Given the description of an element on the screen output the (x, y) to click on. 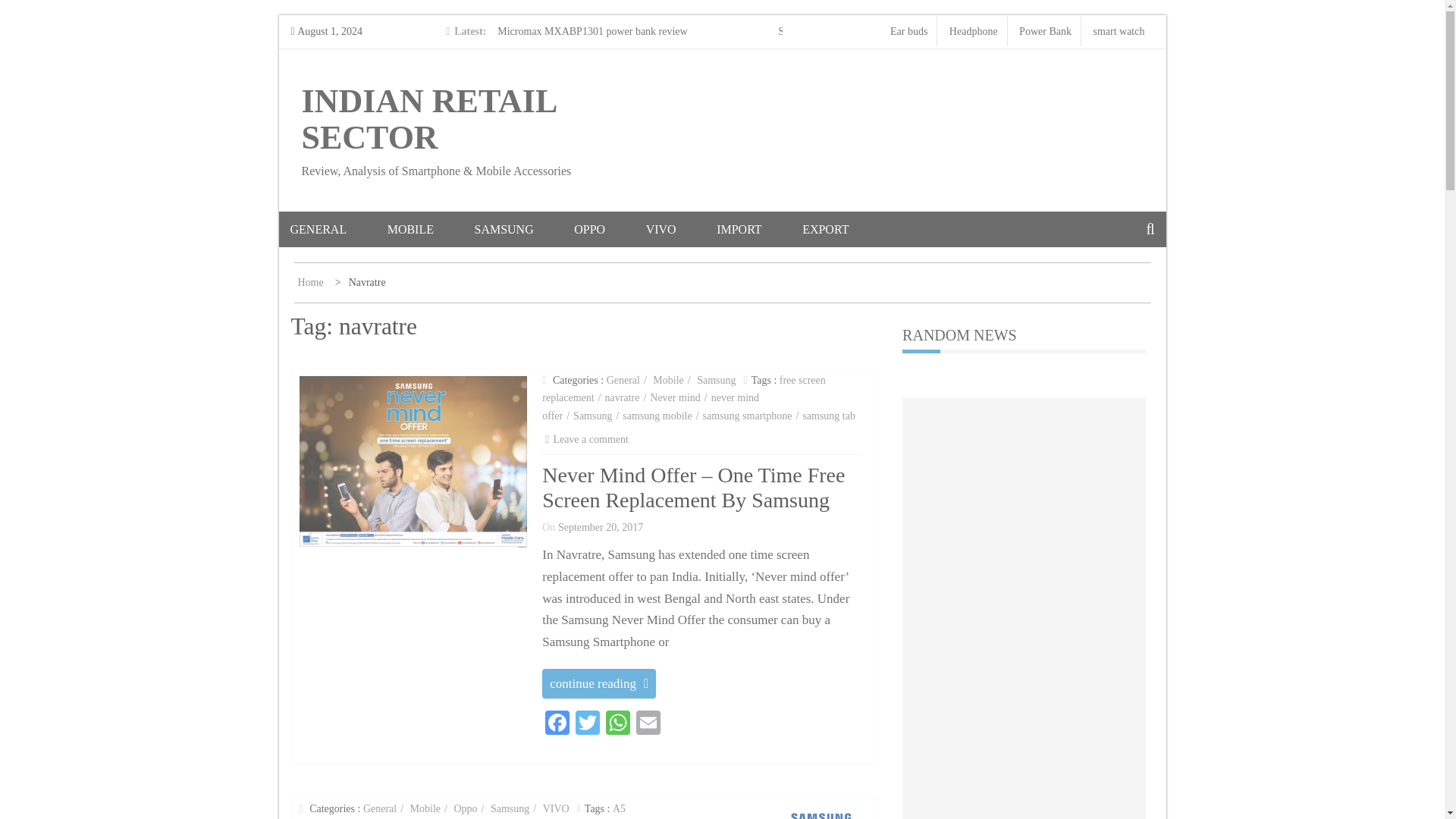
VIVO (680, 229)
SAMSUNG (522, 229)
Headphone (973, 30)
INDIAN RETAIL SECTOR (428, 119)
IMPORT (757, 229)
Syska Power core 100 power bank review (866, 30)
WhatsApp (617, 724)
Twitter (587, 724)
Email (648, 724)
GENERAL (336, 229)
